Given the description of an element on the screen output the (x, y) to click on. 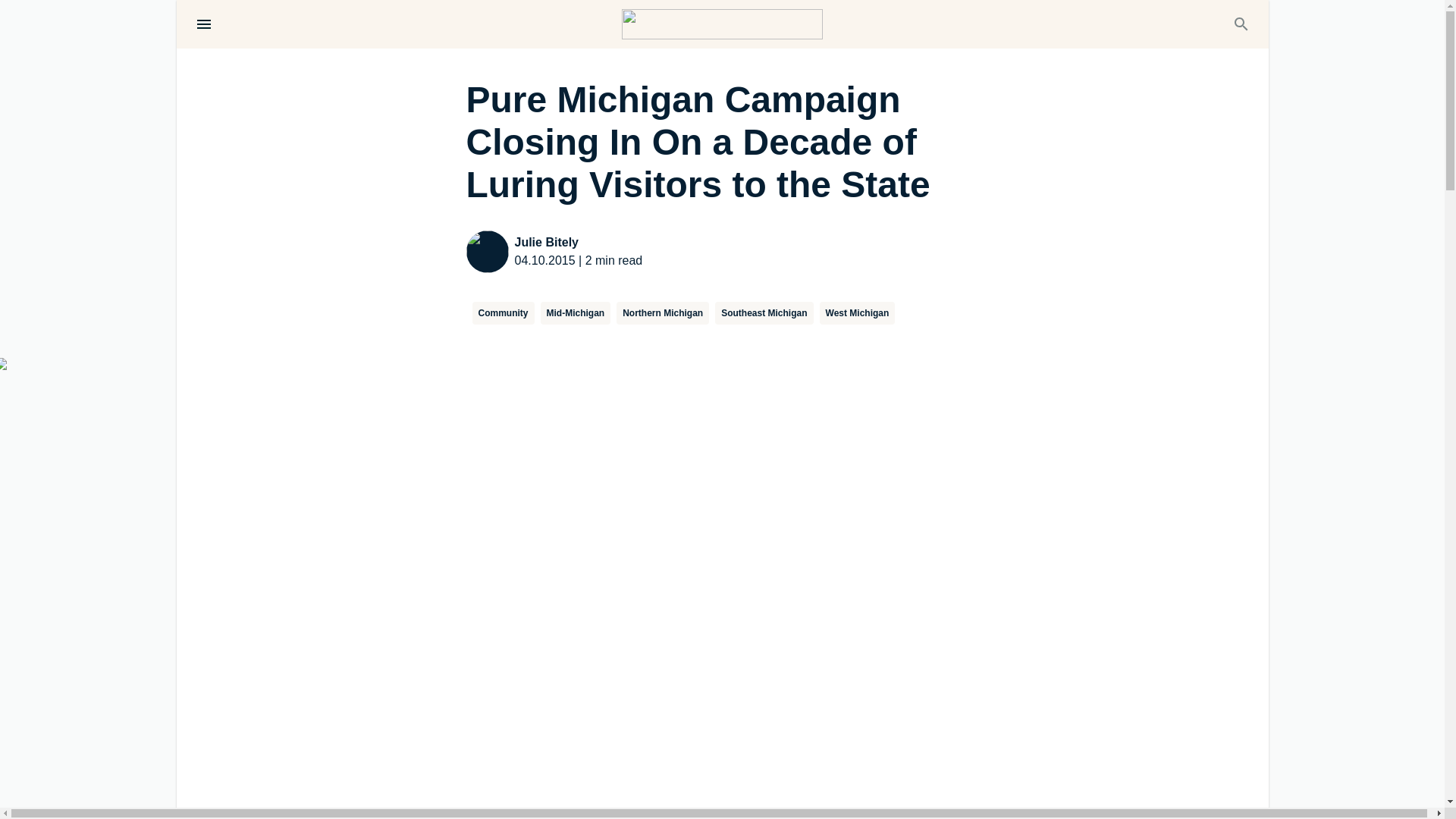
Mid-Michigan (575, 313)
West Michigan (857, 313)
Southeast Michigan (763, 313)
Northern Michigan (662, 313)
Community (502, 313)
Julie Bitely (577, 242)
